Given the description of an element on the screen output the (x, y) to click on. 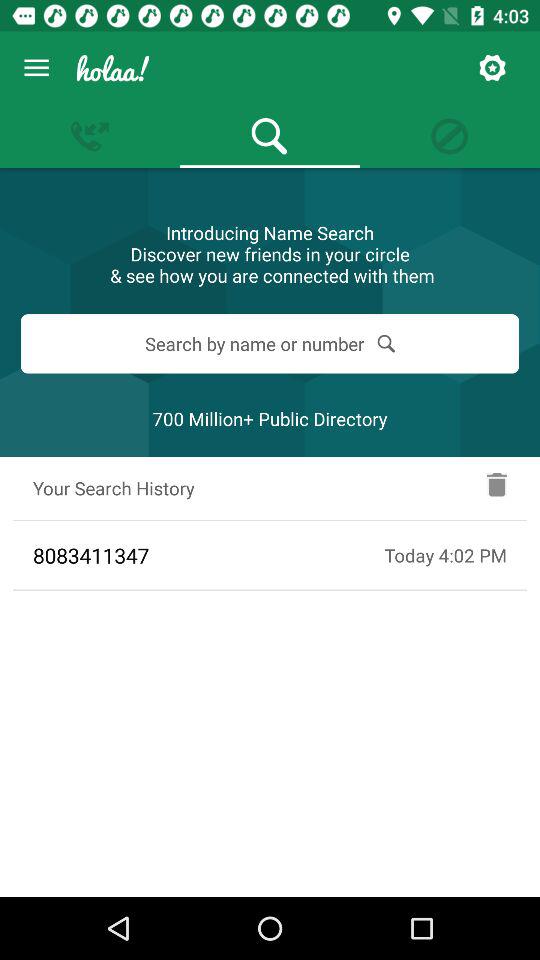
button to delete the search history (497, 487)
